Given the description of an element on the screen output the (x, y) to click on. 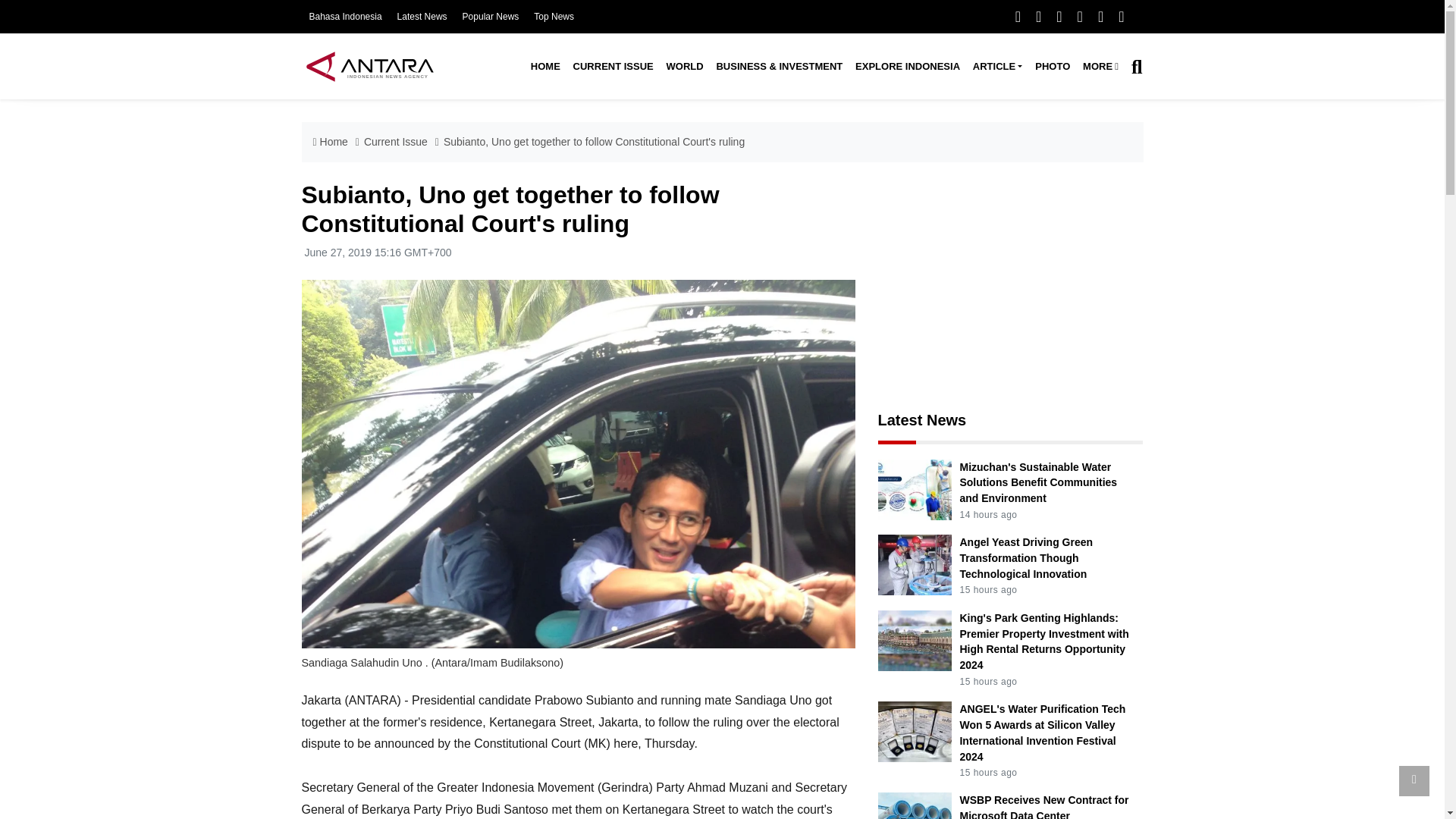
Latest News (421, 16)
Popular News (491, 16)
Current Issue (612, 66)
Popular News (491, 16)
CURRENT ISSUE (612, 66)
Top News (553, 16)
Article (996, 66)
Bahasa Indonesia (344, 16)
ANTARA News (369, 66)
Latest News (421, 16)
ARTICLE (996, 66)
Explore Indonesia (907, 66)
EXPLORE INDONESIA (907, 66)
Bahasa Indonesia (344, 16)
